Given the description of an element on the screen output the (x, y) to click on. 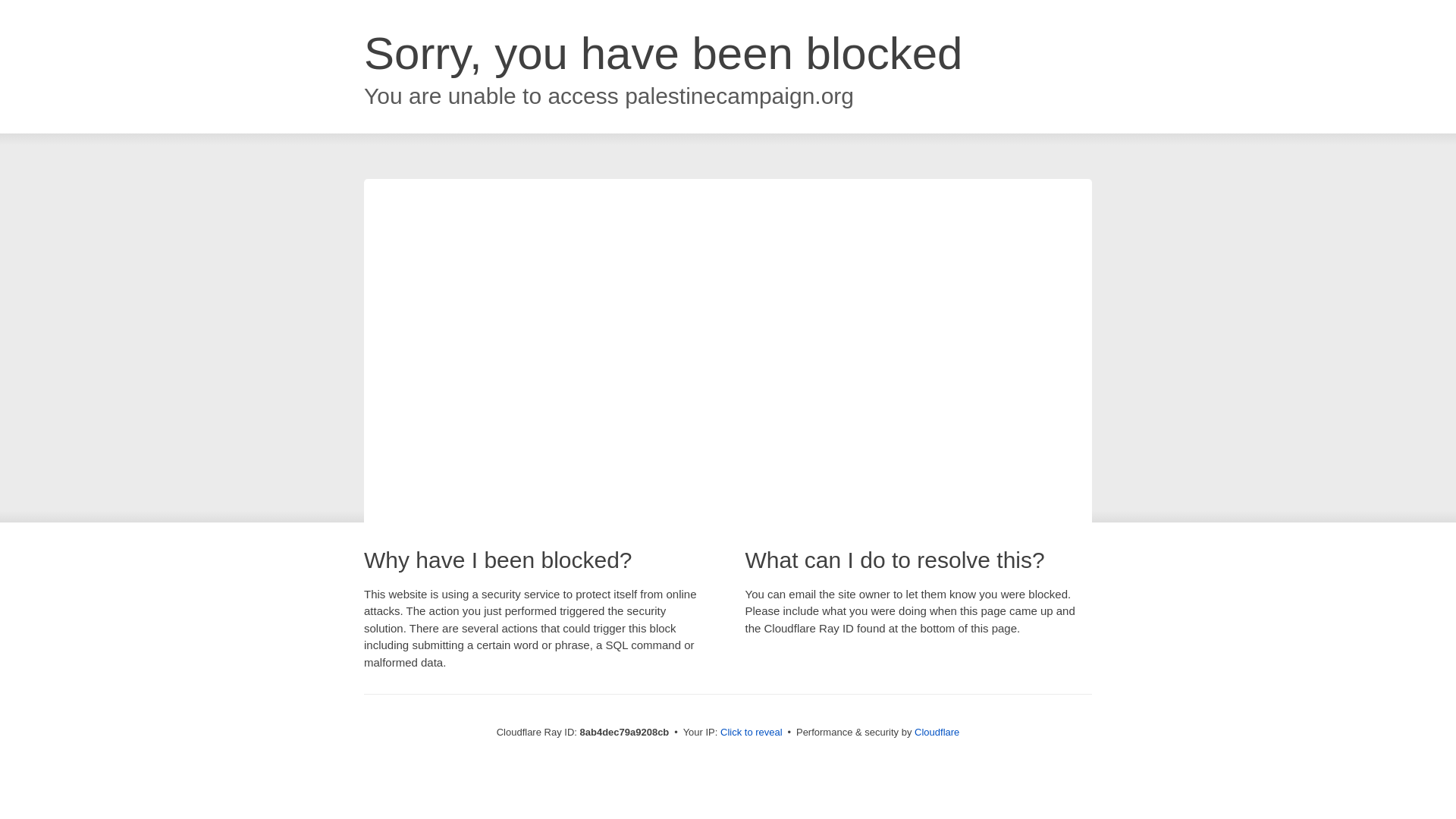
Click to reveal (751, 732)
Cloudflare (936, 731)
